Given the description of an element on the screen output the (x, y) to click on. 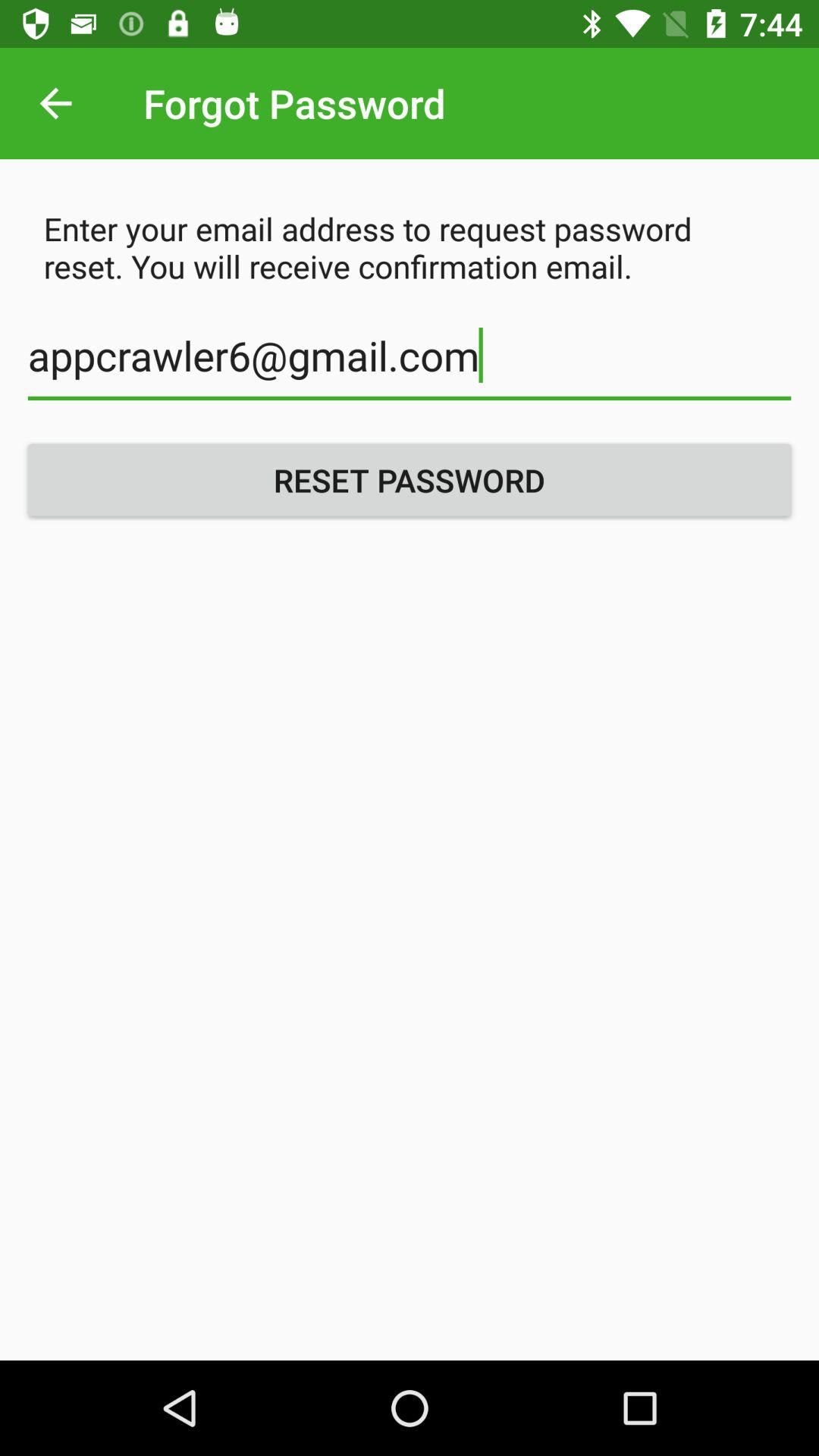
flip until appcrawler6@gmail.com (409, 363)
